Given the description of an element on the screen output the (x, y) to click on. 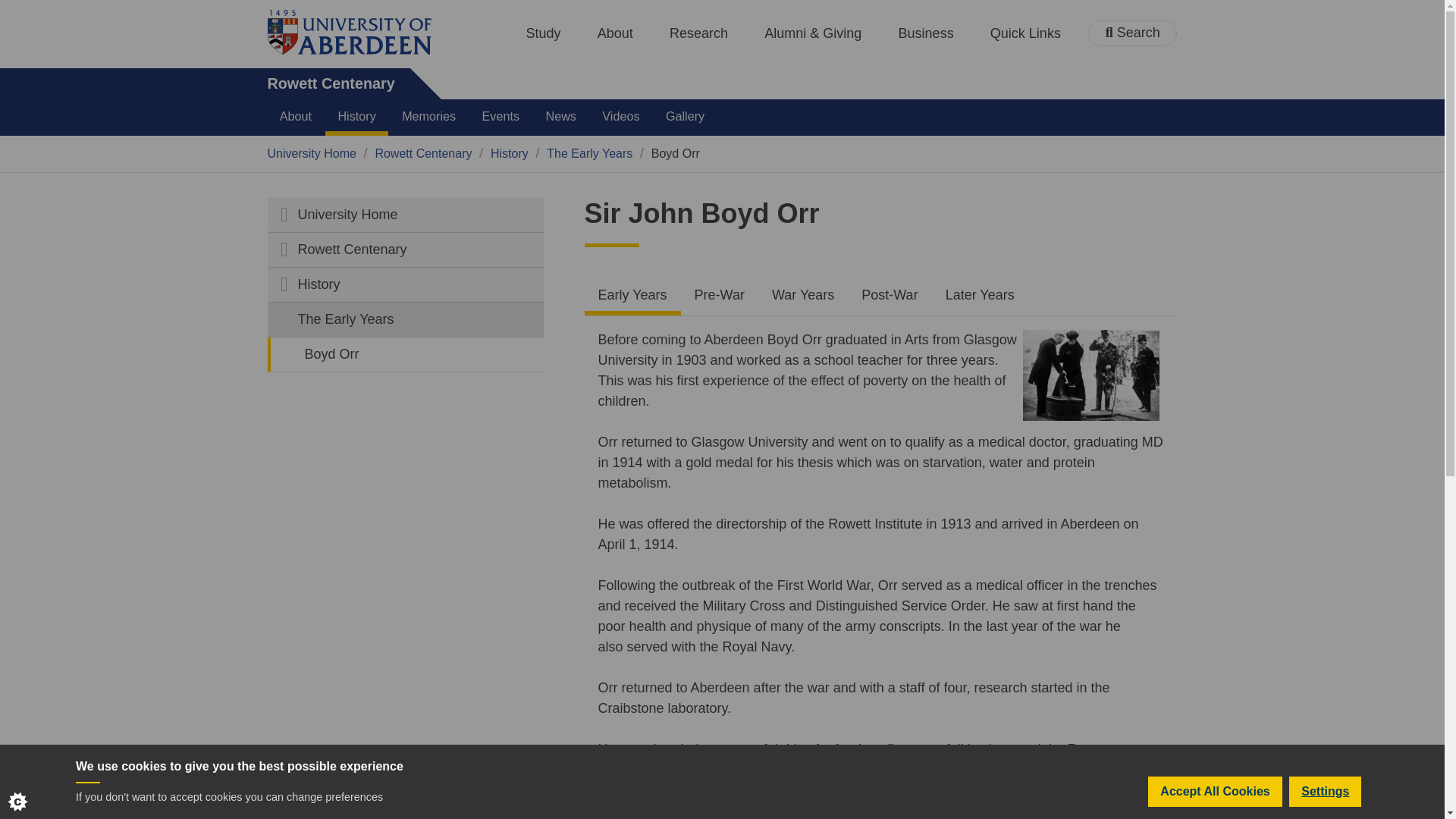
Settings (1324, 813)
About (614, 33)
Study (542, 33)
